Given the description of an element on the screen output the (x, y) to click on. 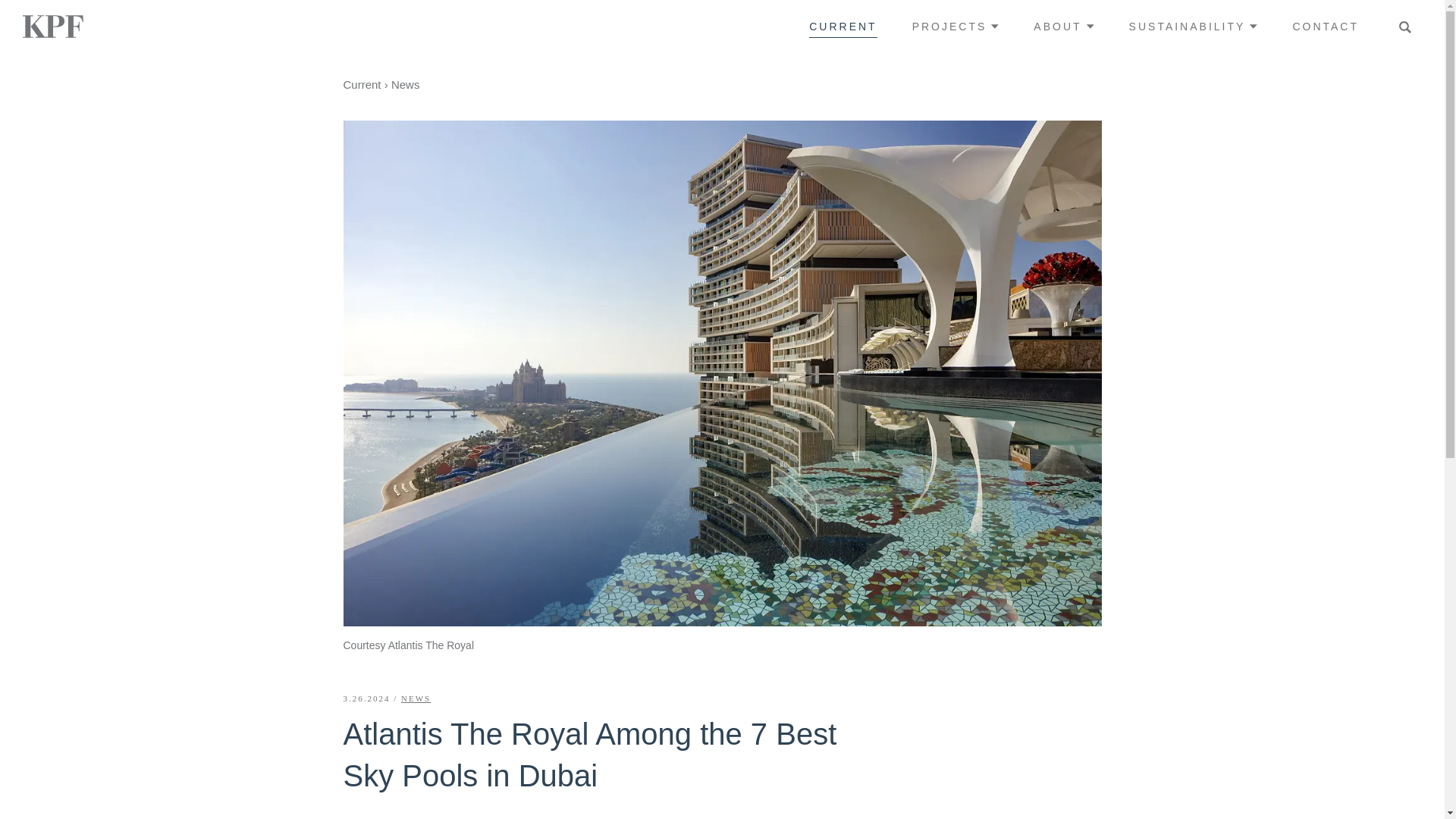
CURRENT (842, 26)
PROJECTS (955, 26)
ABOUT (1063, 26)
SUSTAINABILITY (1193, 26)
